Given the description of an element on the screen output the (x, y) to click on. 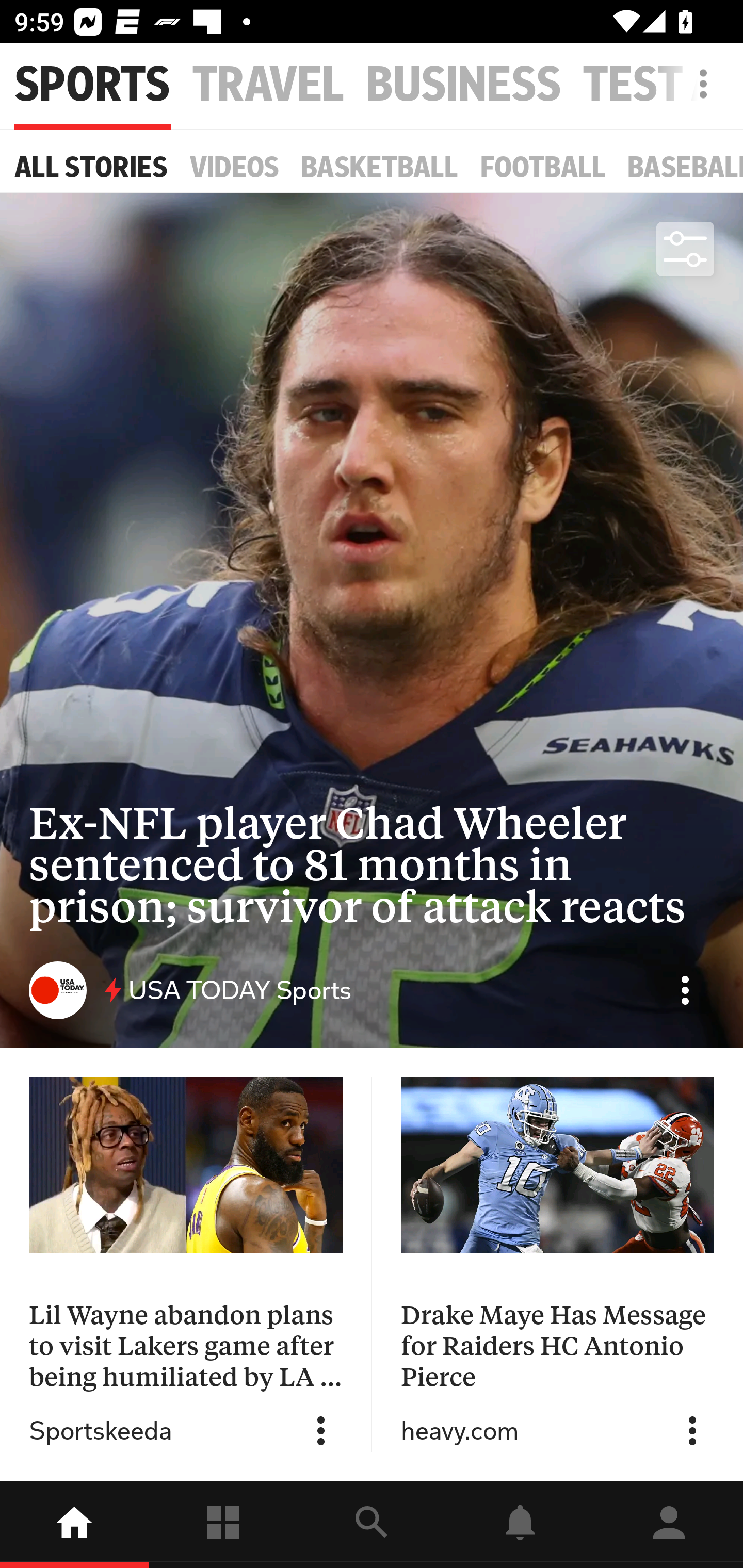
SPORTS (92, 84)
TRAVEL (268, 84)
BUSINESS (463, 84)
Edit Home (697, 83)
ALL STORIES (90, 166)
VIDEOS (234, 166)
BASKETBALL (379, 166)
FOOTBALL (542, 166)
BASEBALL (685, 166)
Options (685, 989)
Options (320, 1430)
Options (692, 1430)
home (74, 1524)
Following (222, 1524)
explore (371, 1524)
Notifications (519, 1524)
Profile (668, 1524)
